Given the description of an element on the screen output the (x, y) to click on. 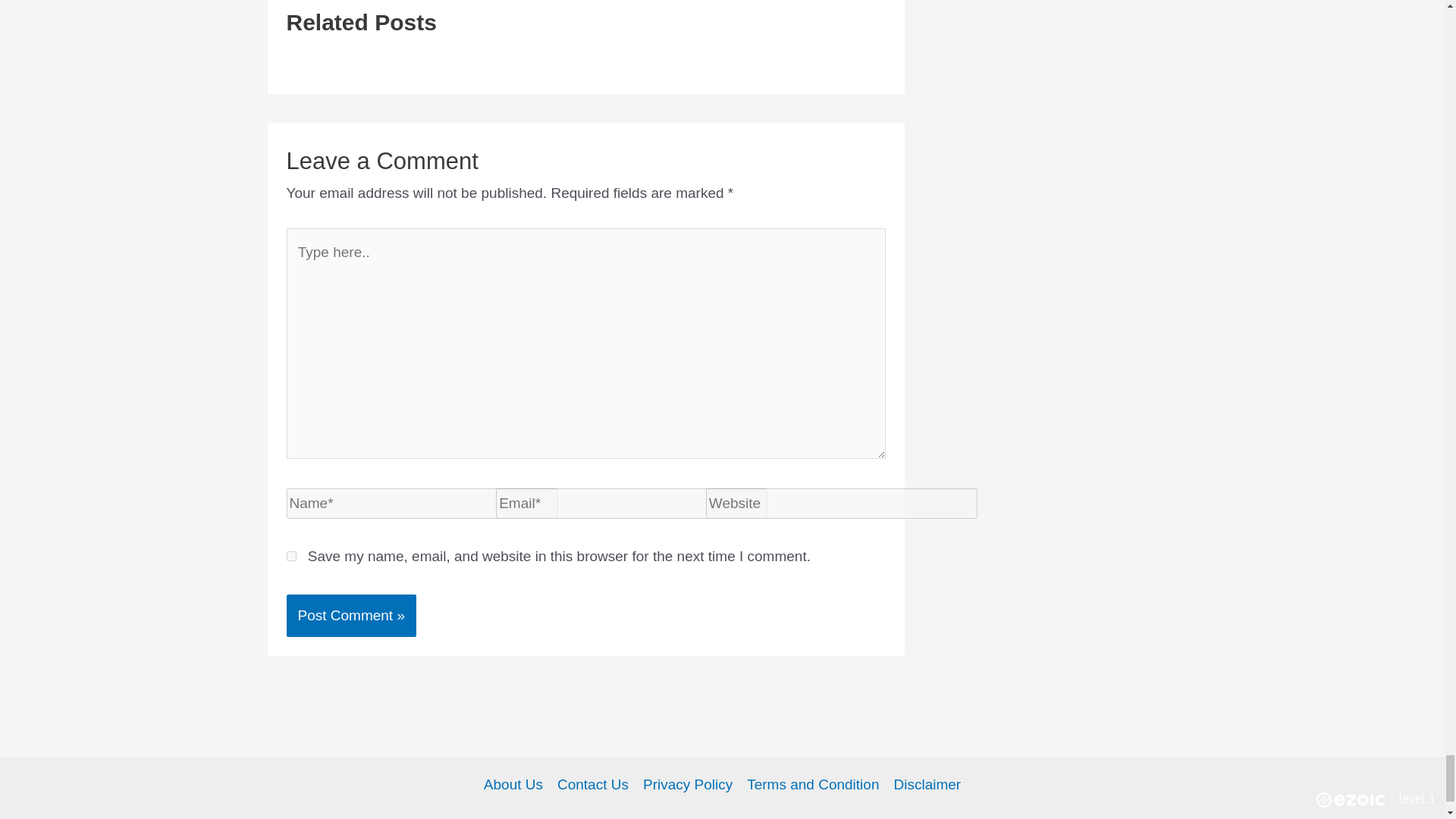
yes (291, 556)
